Given the description of an element on the screen output the (x, y) to click on. 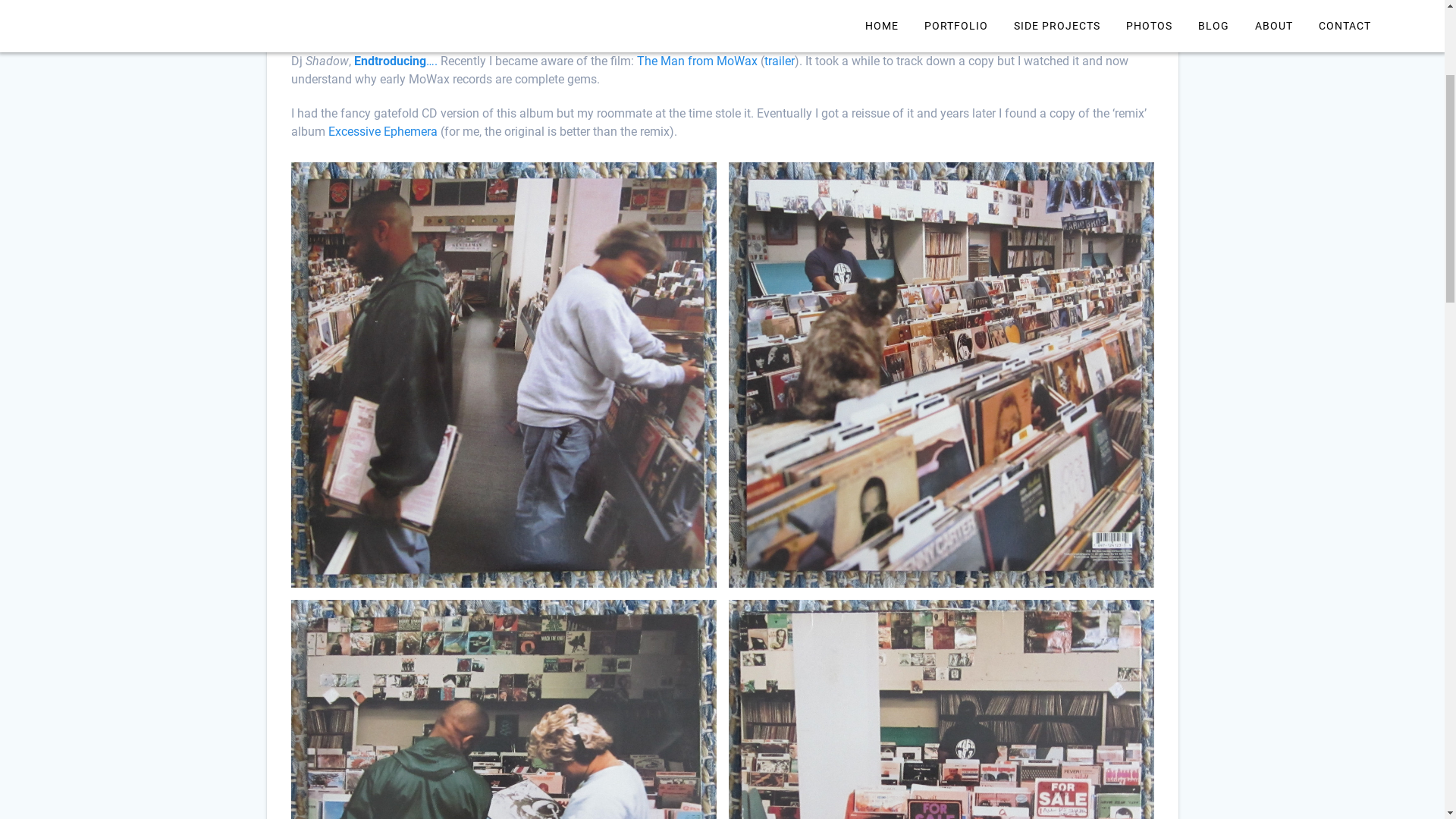
trailer Element type: text (779, 290)
CONTACT Element type: text (1344, 255)
BLOG Element type: text (1213, 255)
SIDE PROJECTS Element type: text (1057, 255)
ABOUT Element type: text (1273, 255)
Skip to content Element type: text (0, 0)
PHOTOS Element type: text (1149, 255)
HOME Element type: text (881, 255)
The Man from MoWax Element type: text (697, 290)
PORTFOLIO Element type: text (955, 255)
Excessive Ephemera Element type: text (381, 361)
